Given the description of an element on the screen output the (x, y) to click on. 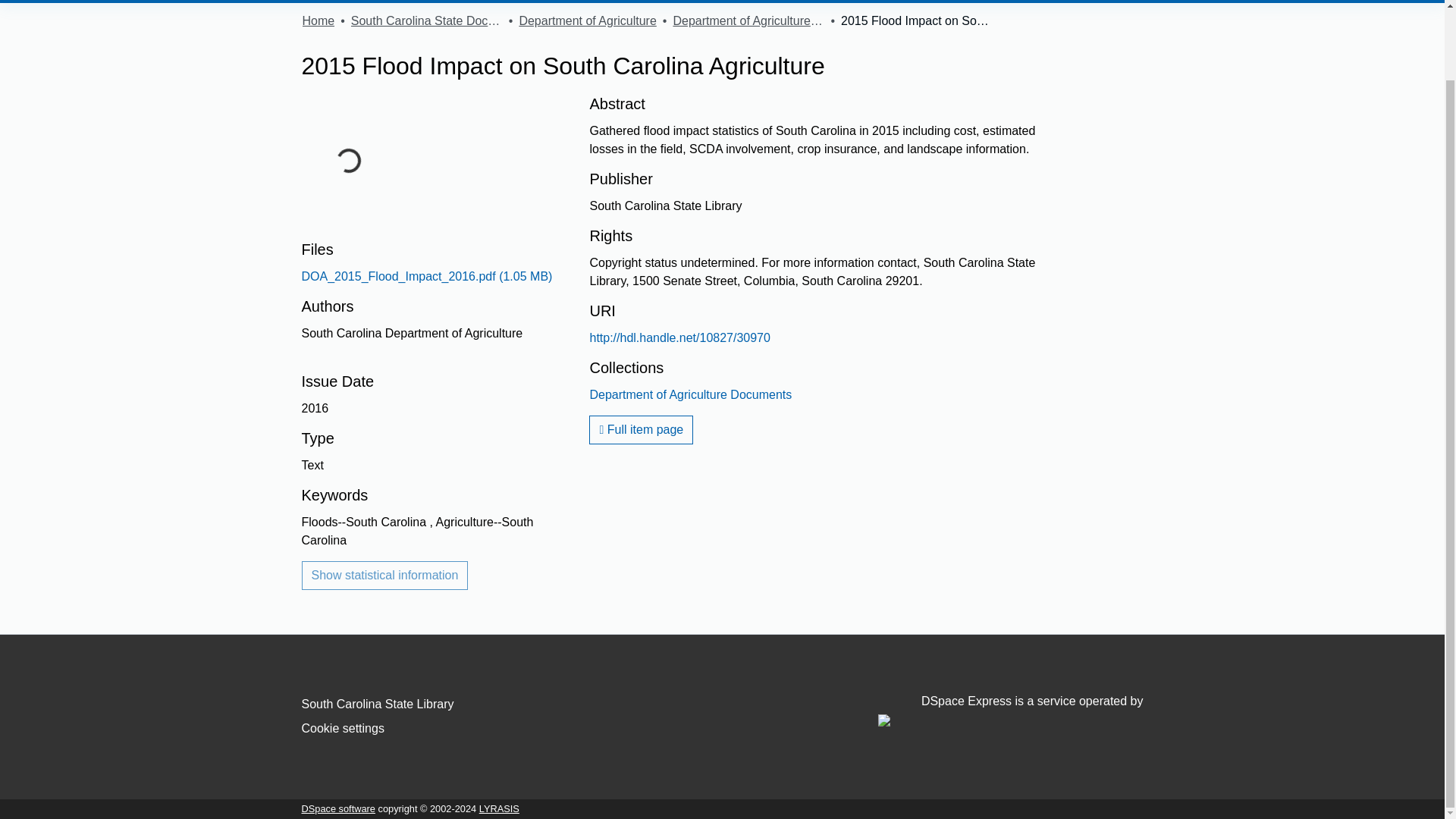
South Carolina State Documents Depository (426, 21)
Cookie settings (342, 727)
DSpace software (338, 808)
Department of Agriculture Documents (690, 394)
LYRASIS (499, 808)
Home (317, 21)
All of Digital Collections (524, 1)
Full item page (641, 429)
DSpace Express is a service operated by (1009, 710)
South Carolina State Library (377, 703)
Show statistical information (384, 575)
Department of Agriculture (587, 21)
Department of Agriculture Documents (748, 21)
